Given the description of an element on the screen output the (x, y) to click on. 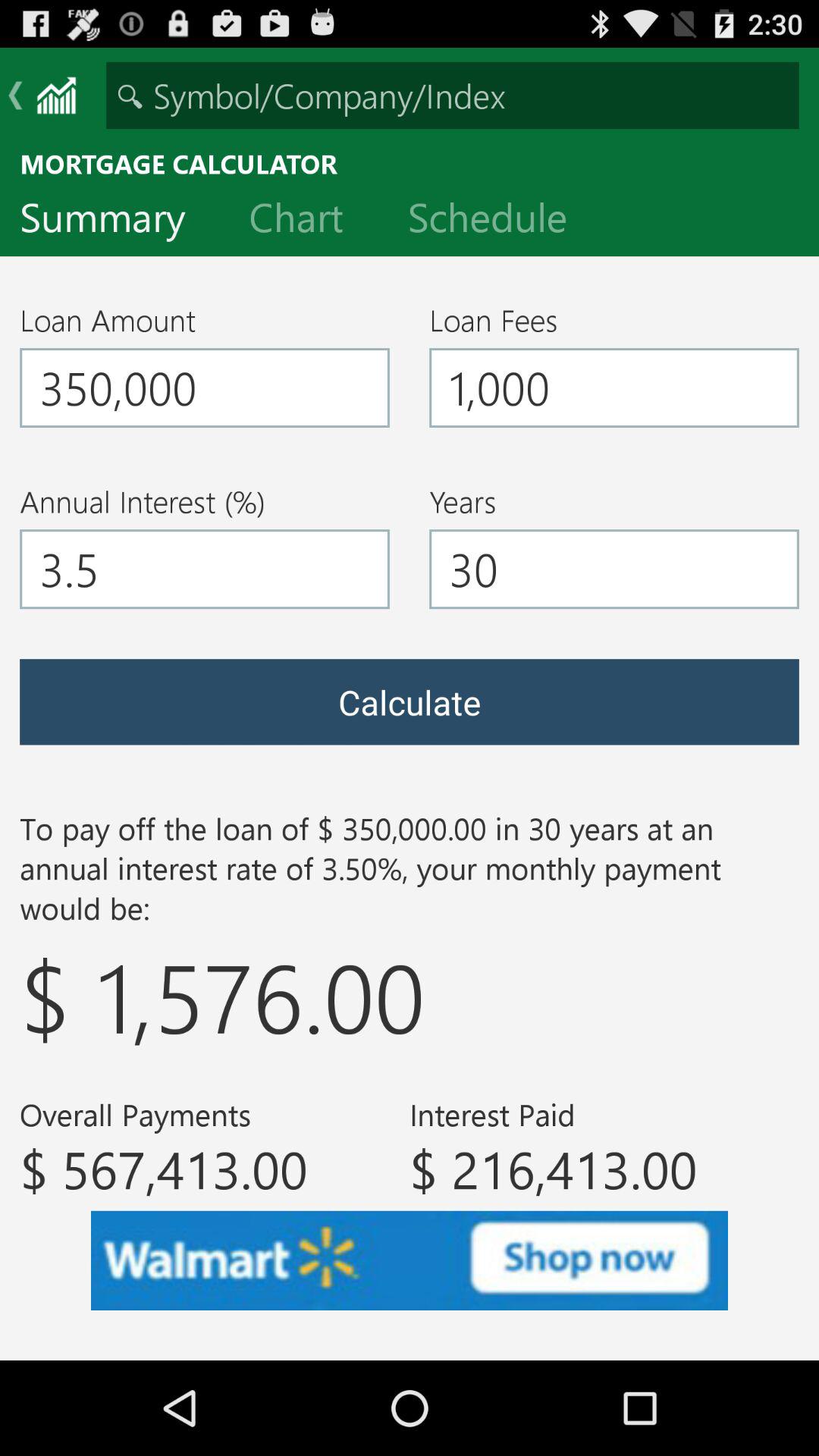
select the icon above loan amount item (114, 220)
